Given the description of an element on the screen output the (x, y) to click on. 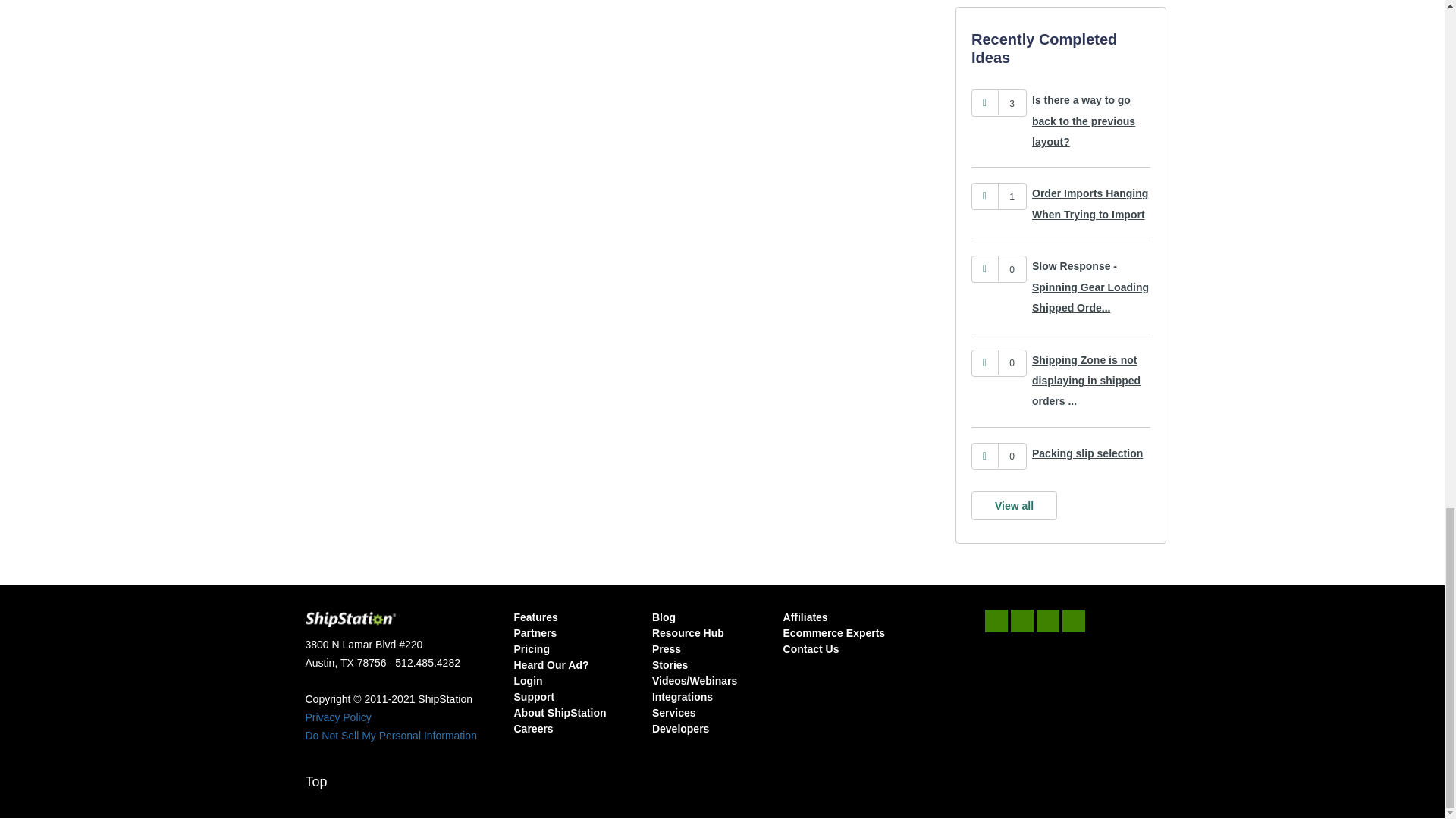
The total number of kudos this post has received. (1011, 456)
Click here to see who gave kudos to this post. (1011, 197)
Click here to give kudos to this post. (984, 268)
Click here to give kudos to this post. (984, 102)
The total number of kudos this post has received. (1011, 269)
The total number of kudos this post has received. (1011, 362)
Click here to see who gave kudos to this post. (1011, 103)
Click here to give kudos to this post. (984, 362)
Click here to give kudos to this post. (984, 195)
